Given the description of an element on the screen output the (x, y) to click on. 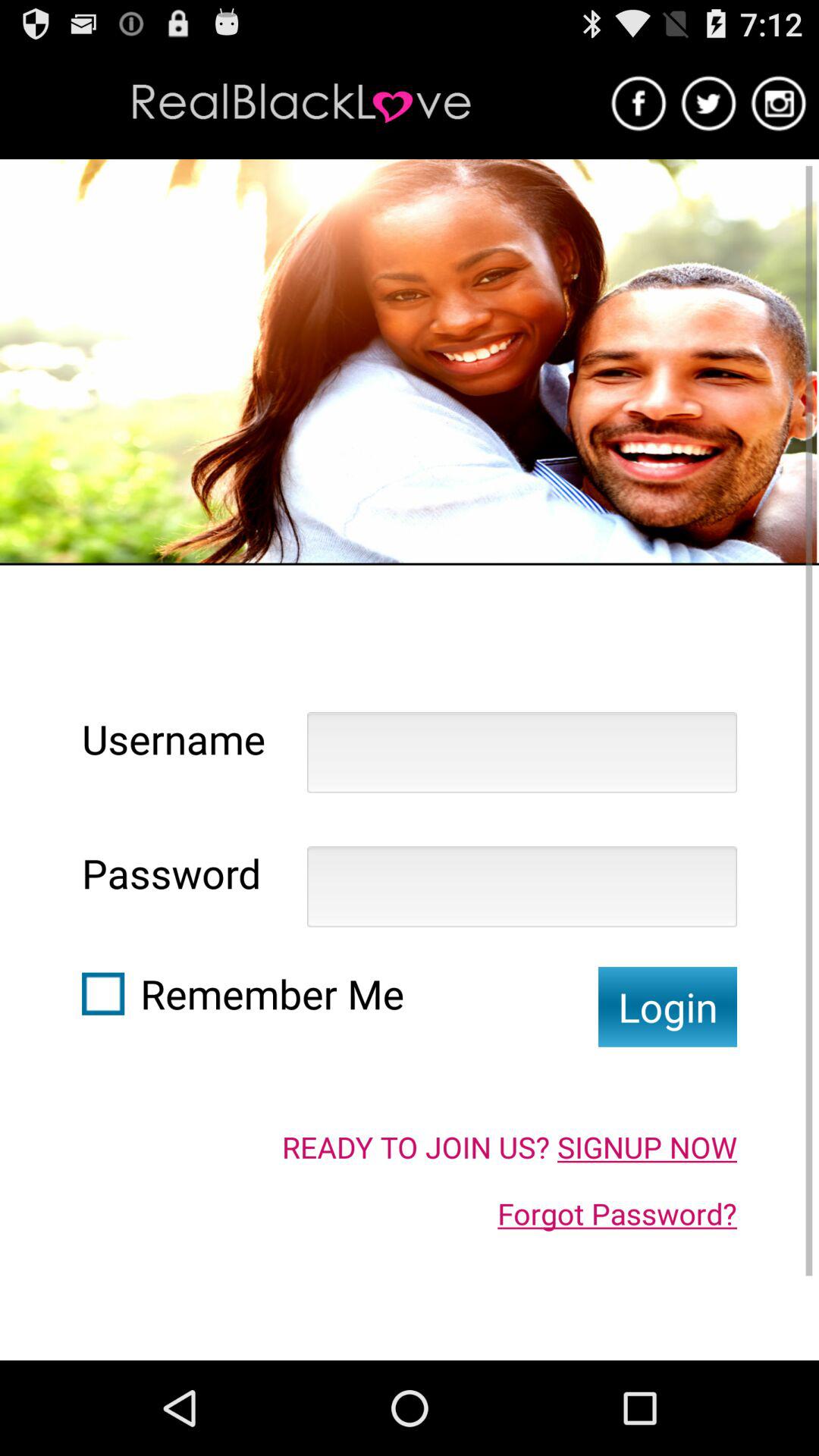
select the button below the login icon (509, 1147)
